Given the description of an element on the screen output the (x, y) to click on. 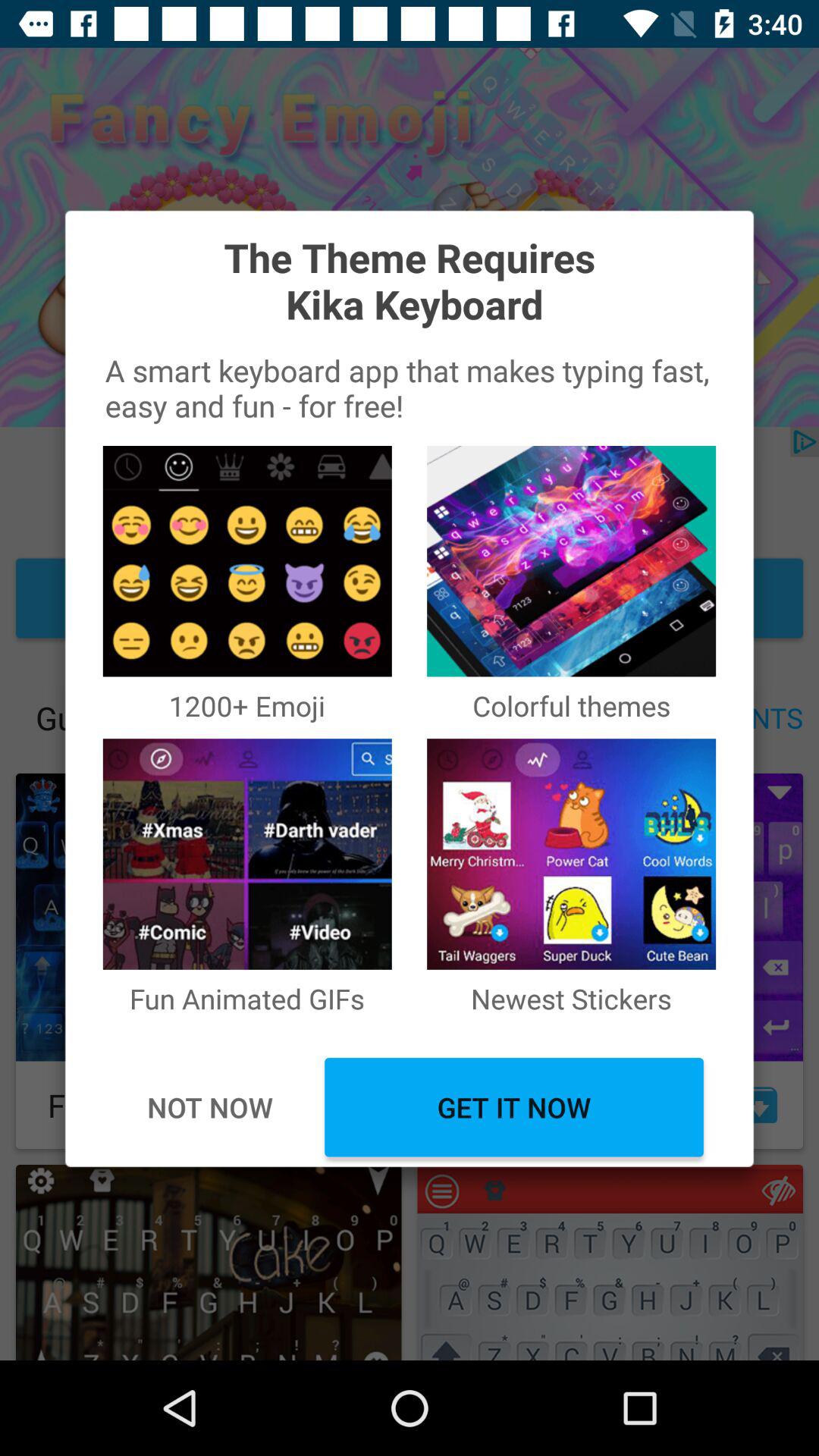
click item to the right of not now icon (513, 1106)
